Given the description of an element on the screen output the (x, y) to click on. 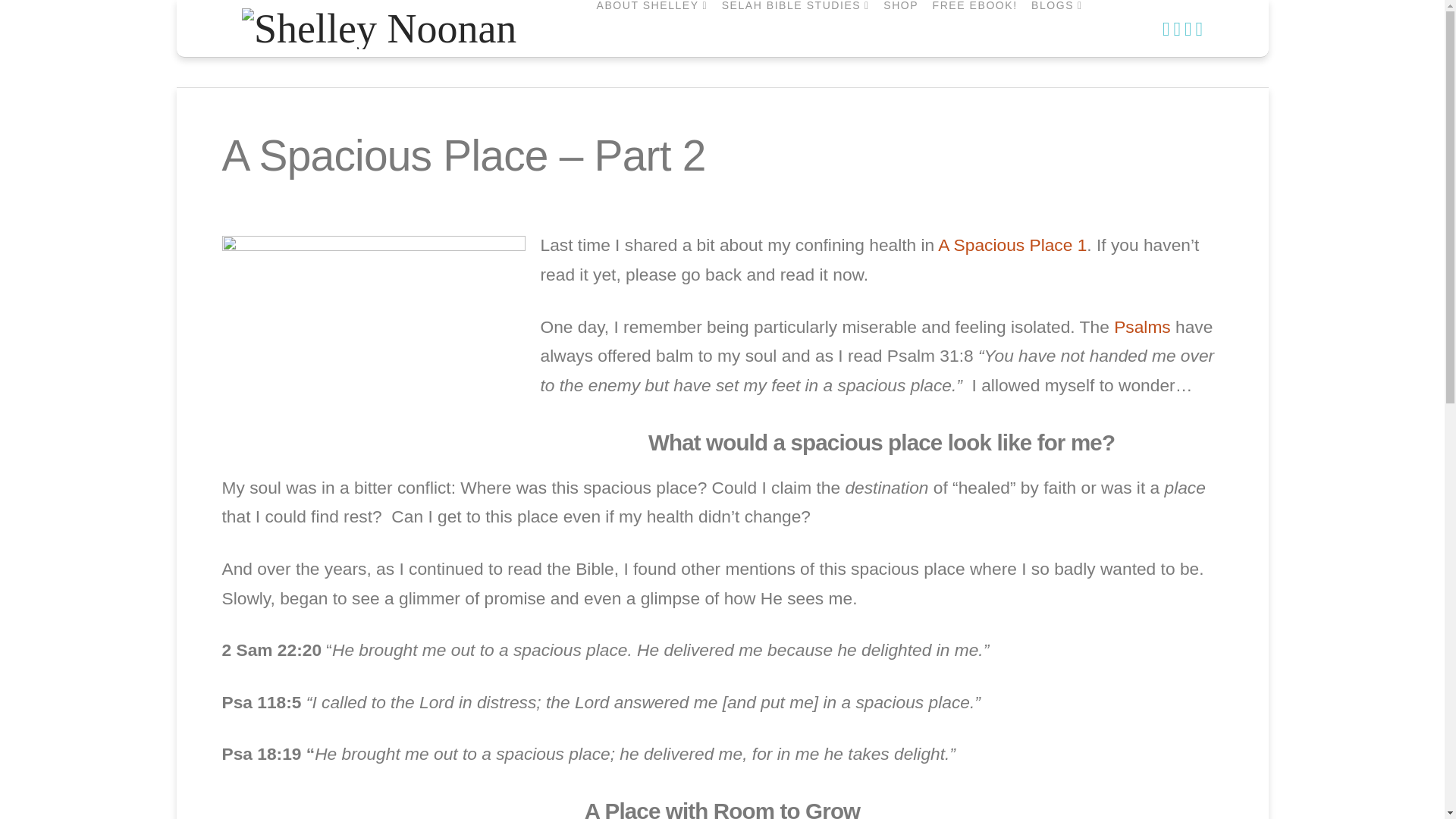
Shelley Noonan (378, 26)
A Spacious Place 1 (1011, 244)
SELAH BIBLE STUDIES (795, 28)
BLOGS (1056, 28)
FREE EBOOK! (973, 28)
ABOUT SHELLEY (650, 28)
